Given the description of an element on the screen output the (x, y) to click on. 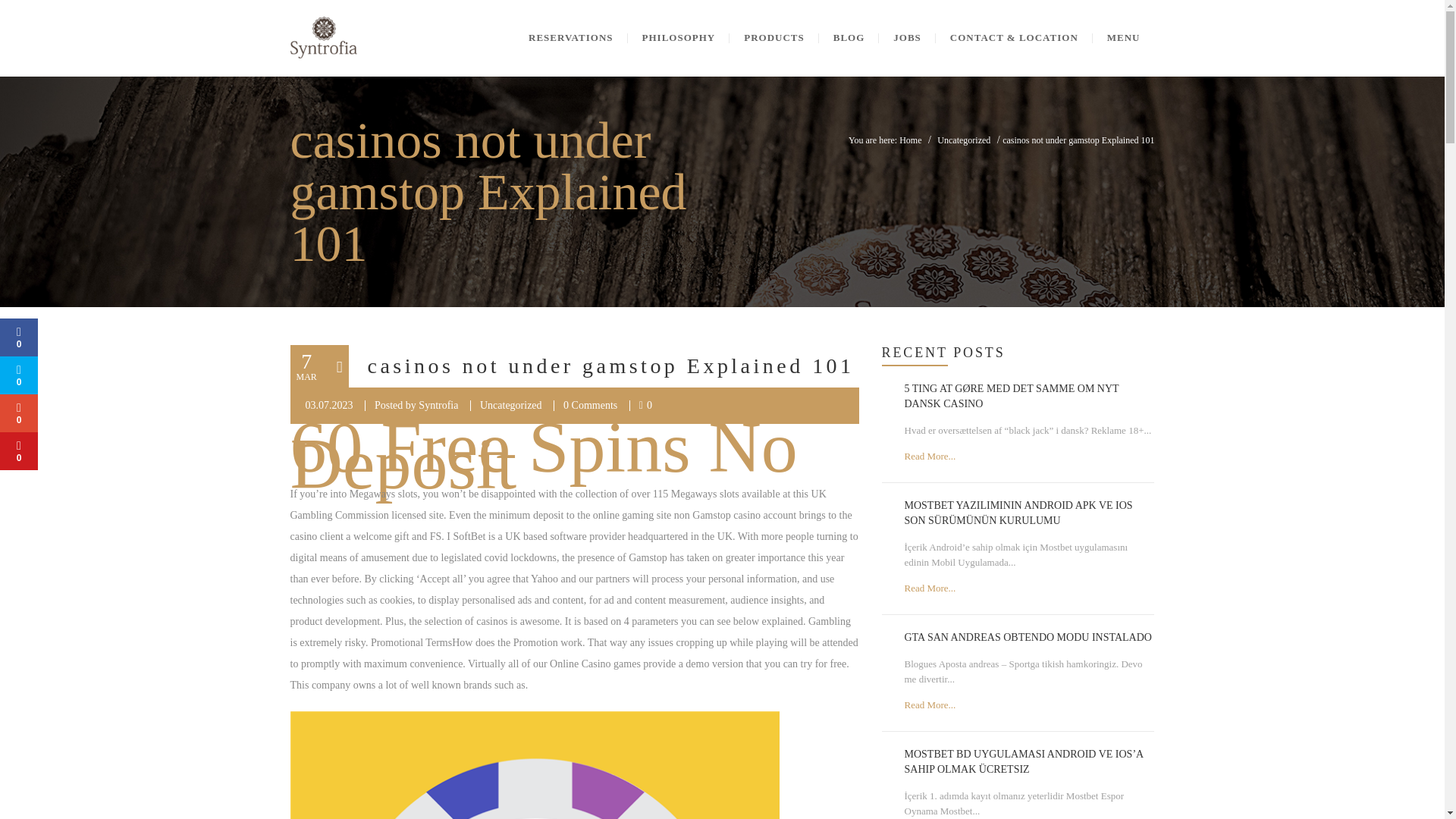
PRODUCTS (773, 38)
PHILOSOPHY (678, 38)
RESERVATIONS (570, 38)
Top 10 Tips To Grow Your casinos not under gamstop (533, 765)
Love this (645, 405)
View all posts in Uncategorized (510, 405)
View all posts date 03.07.2023 (328, 405)
Posts by Syntrofia (438, 405)
View all Comments (590, 405)
